Given the description of an element on the screen output the (x, y) to click on. 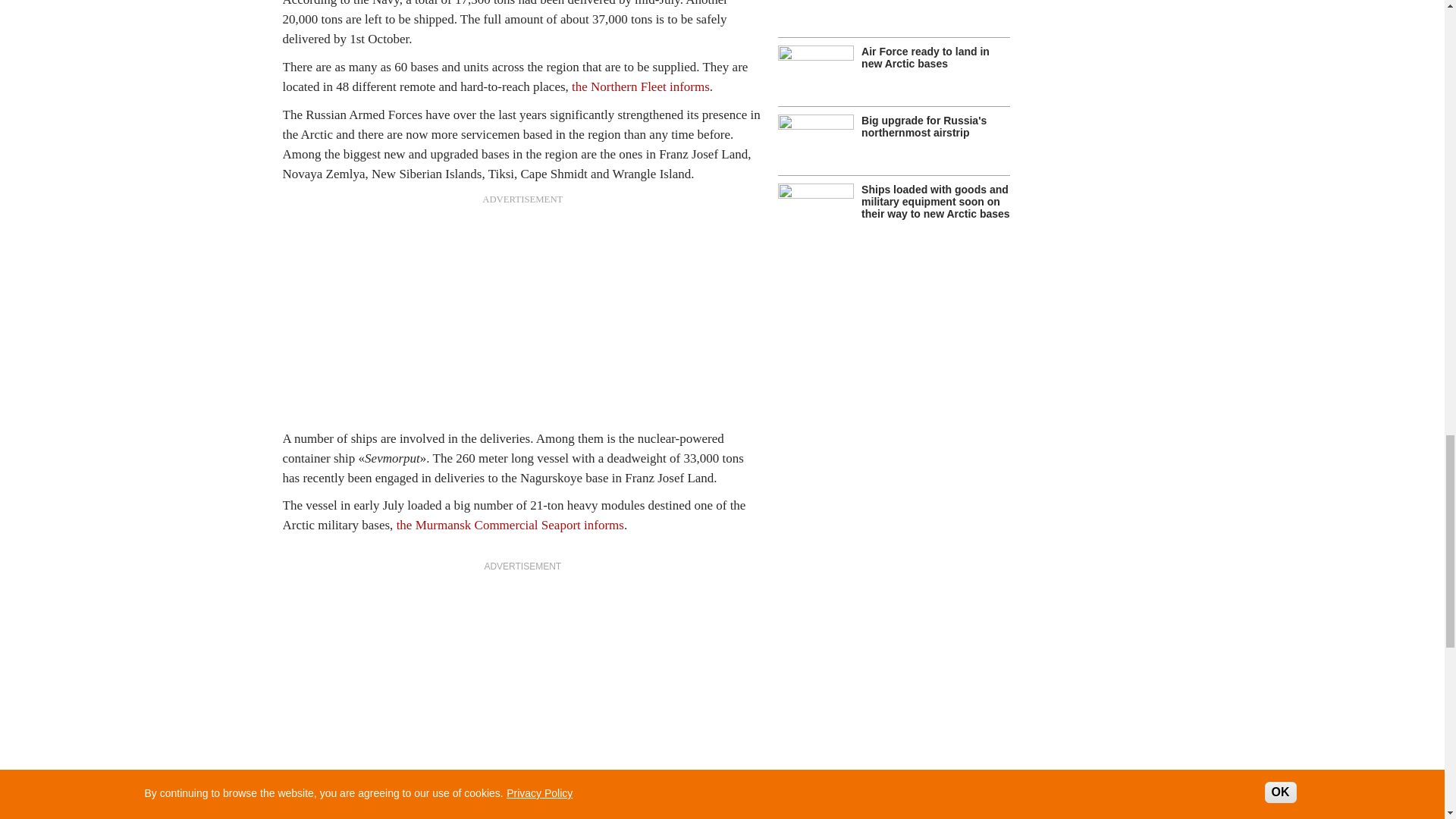
Security (368, 813)
the Murmansk Commercial Seaport informs (510, 524)
the Northern Fleet informs (641, 86)
